Given the description of an element on the screen output the (x, y) to click on. 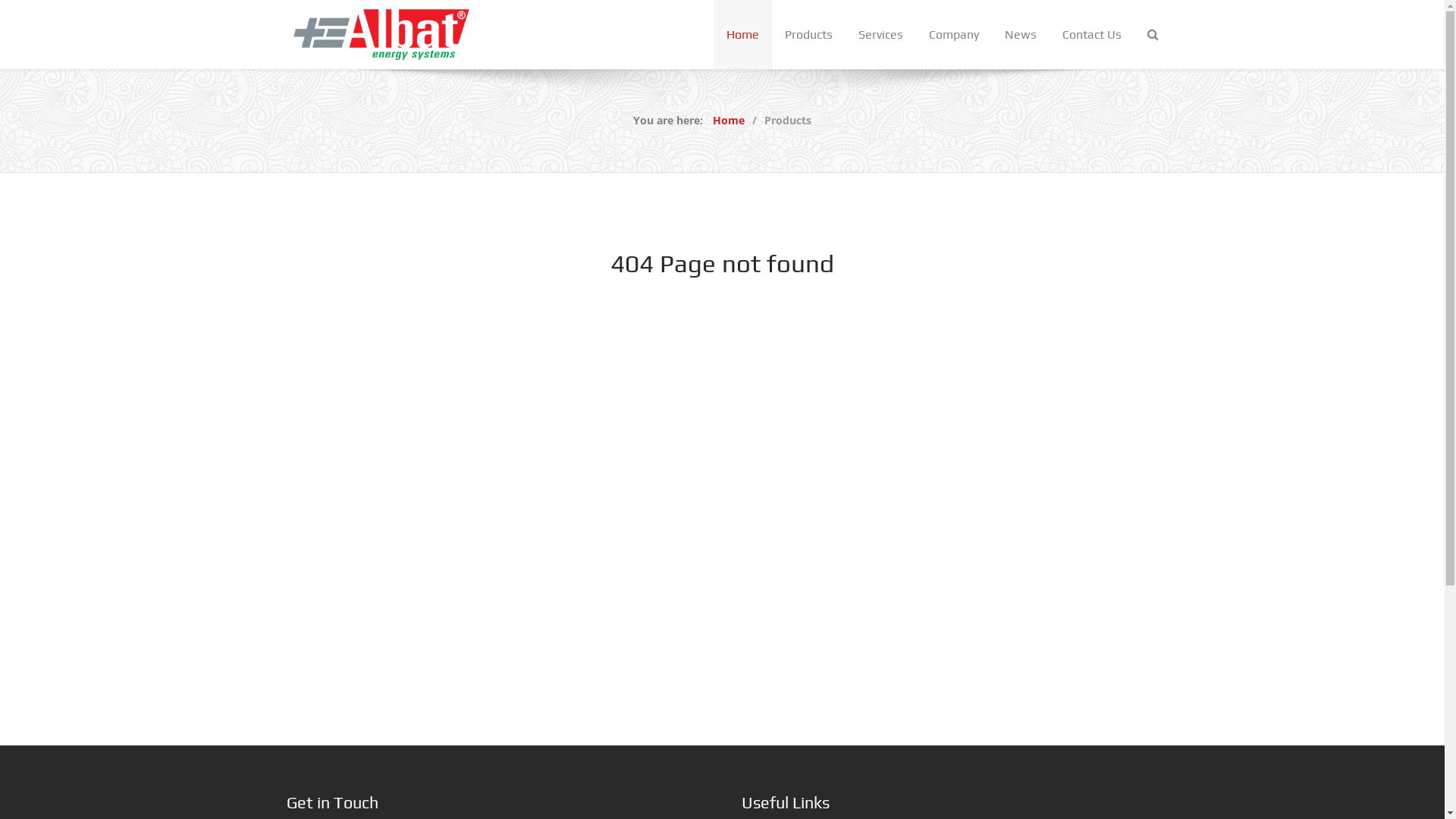
Home Element type: text (728, 119)
Services Element type: text (879, 34)
Contact Us Element type: text (1091, 34)
Home Element type: text (741, 34)
Products Element type: text (808, 34)
Paradise Element type: hover (381, 33)
Company Element type: text (953, 34)
News Element type: text (1020, 34)
